Given the description of an element on the screen output the (x, y) to click on. 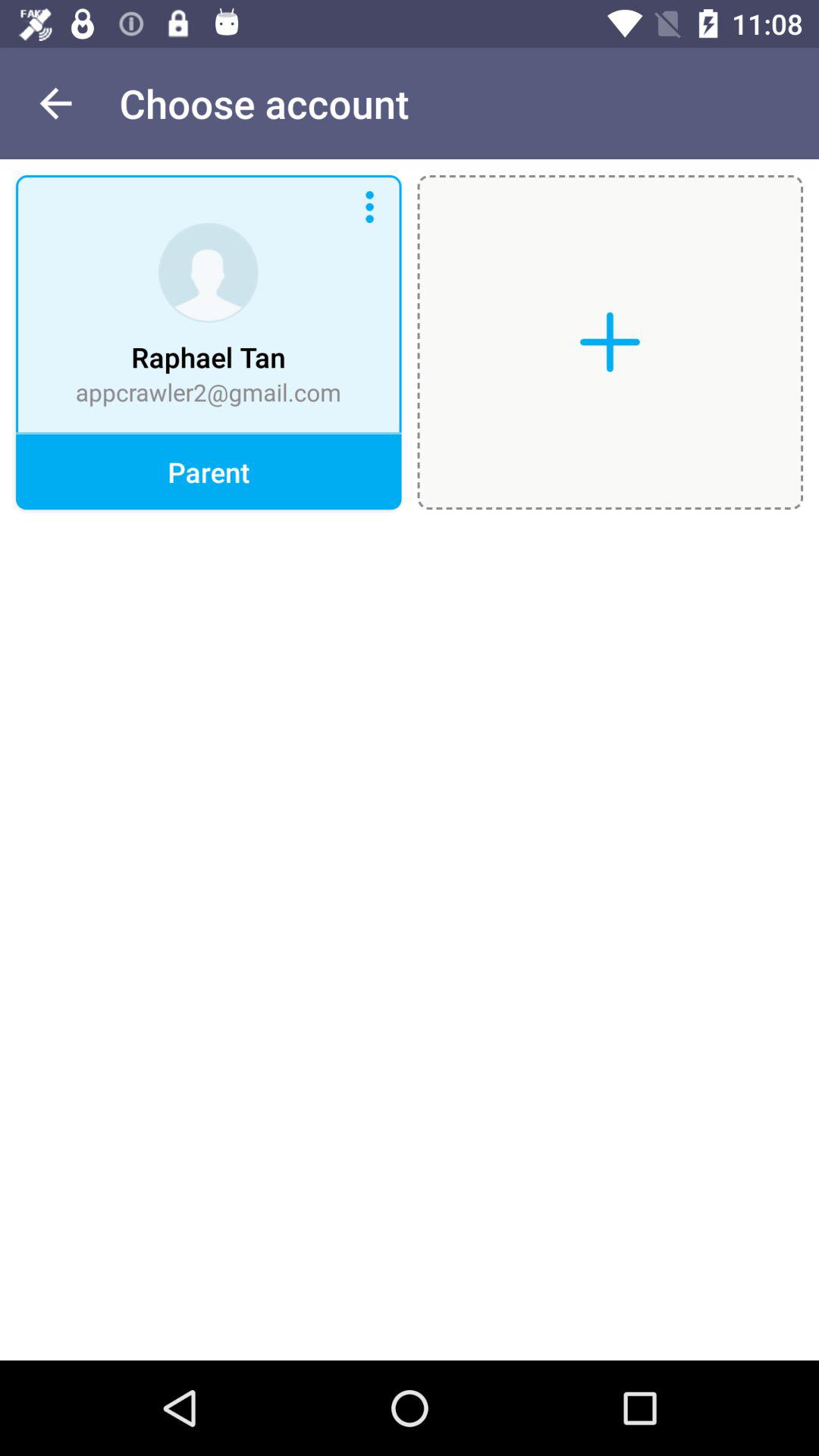
open the icon above appcrawler2@gmail.com item (55, 103)
